Given the description of an element on the screen output the (x, y) to click on. 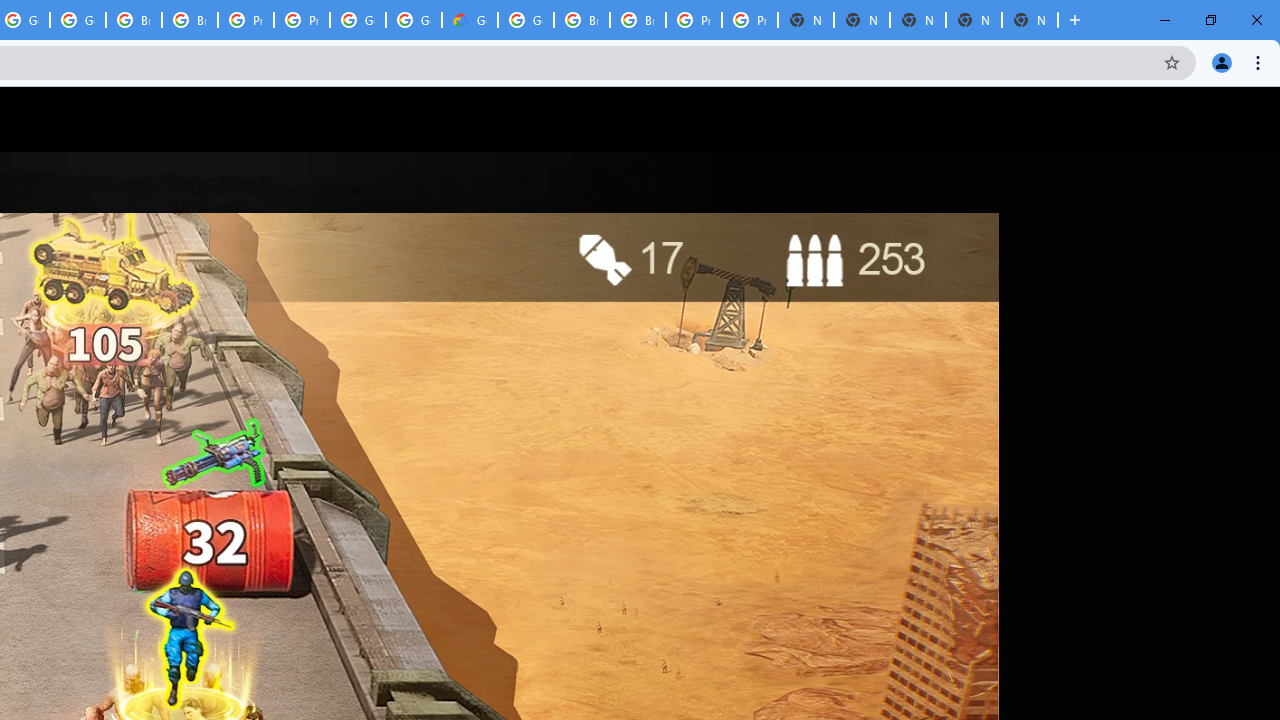
Google Cloud Platform (413, 20)
Google Cloud Estimate Summary (469, 20)
Google Cloud Platform (358, 20)
Google Cloud Platform (525, 20)
